Given the description of an element on the screen output the (x, y) to click on. 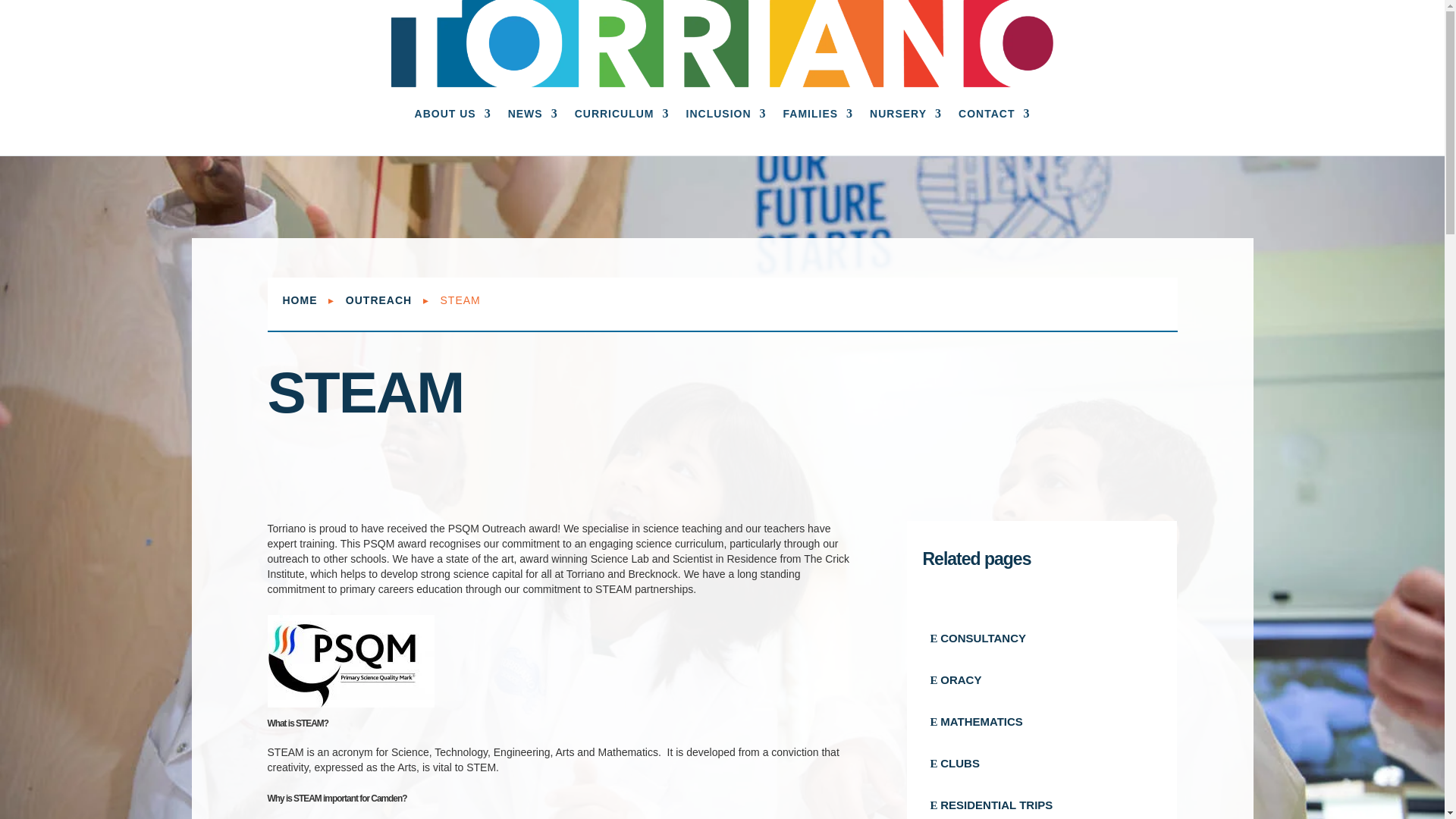
NURSERY (905, 116)
NEWS (532, 116)
CONTACT (993, 116)
ABOUT US (453, 116)
CURRICULUM (622, 116)
FAMILIES (818, 116)
INCLUSION (726, 116)
